Given the description of an element on the screen output the (x, y) to click on. 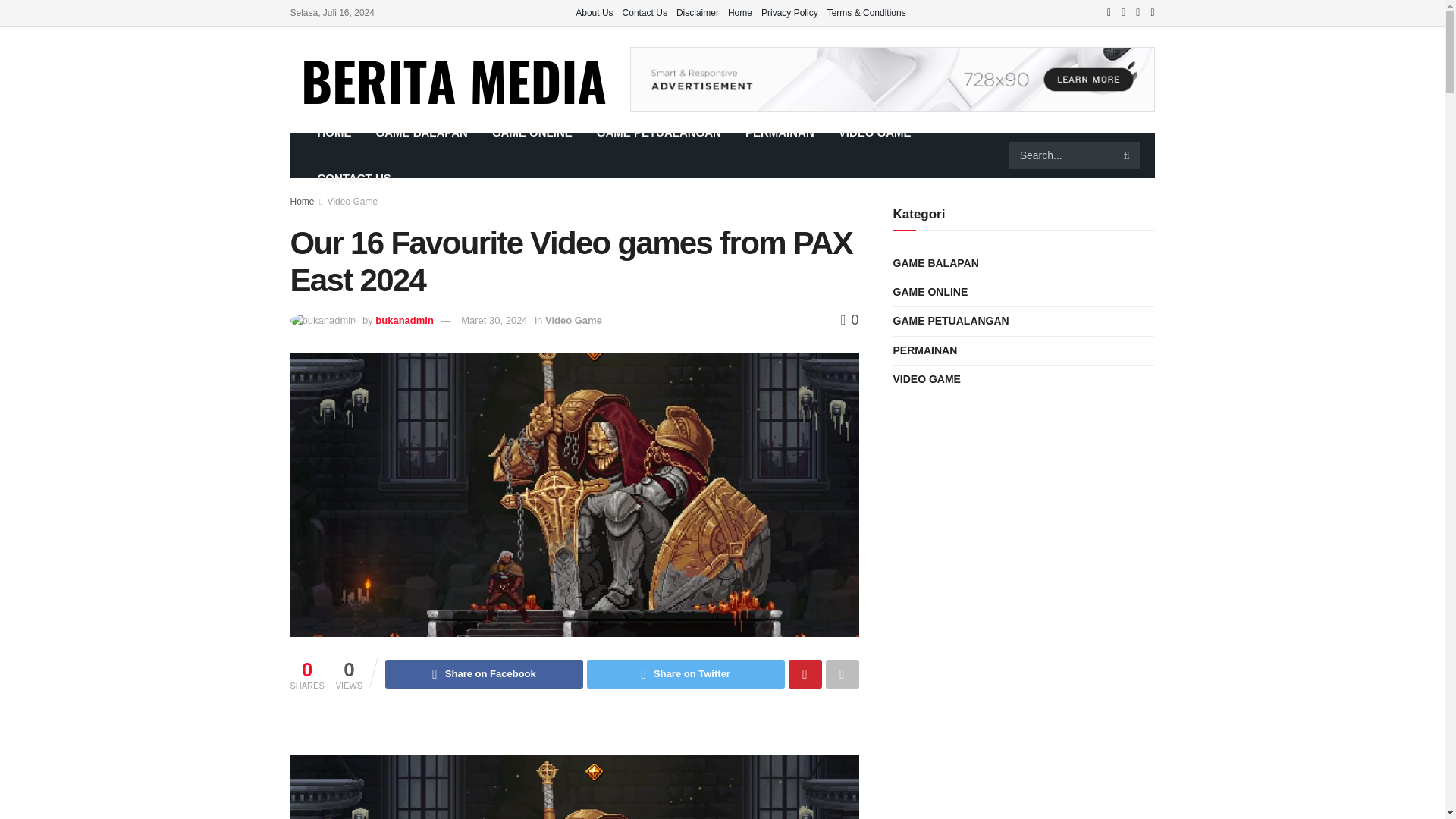
Home (740, 12)
Video Game (352, 201)
Privacy Policy (789, 12)
GAME BALAPAN (422, 132)
Maret 30, 2024 (494, 319)
GAME PETUALANGAN (659, 132)
VIDEO GAME (875, 132)
Contact Us (644, 12)
PERMAINAN (780, 132)
0 (850, 319)
Video Game (573, 319)
HOME (333, 132)
About Us (593, 12)
bukanadmin (404, 319)
CONTACT US (353, 177)
